Given the description of an element on the screen output the (x, y) to click on. 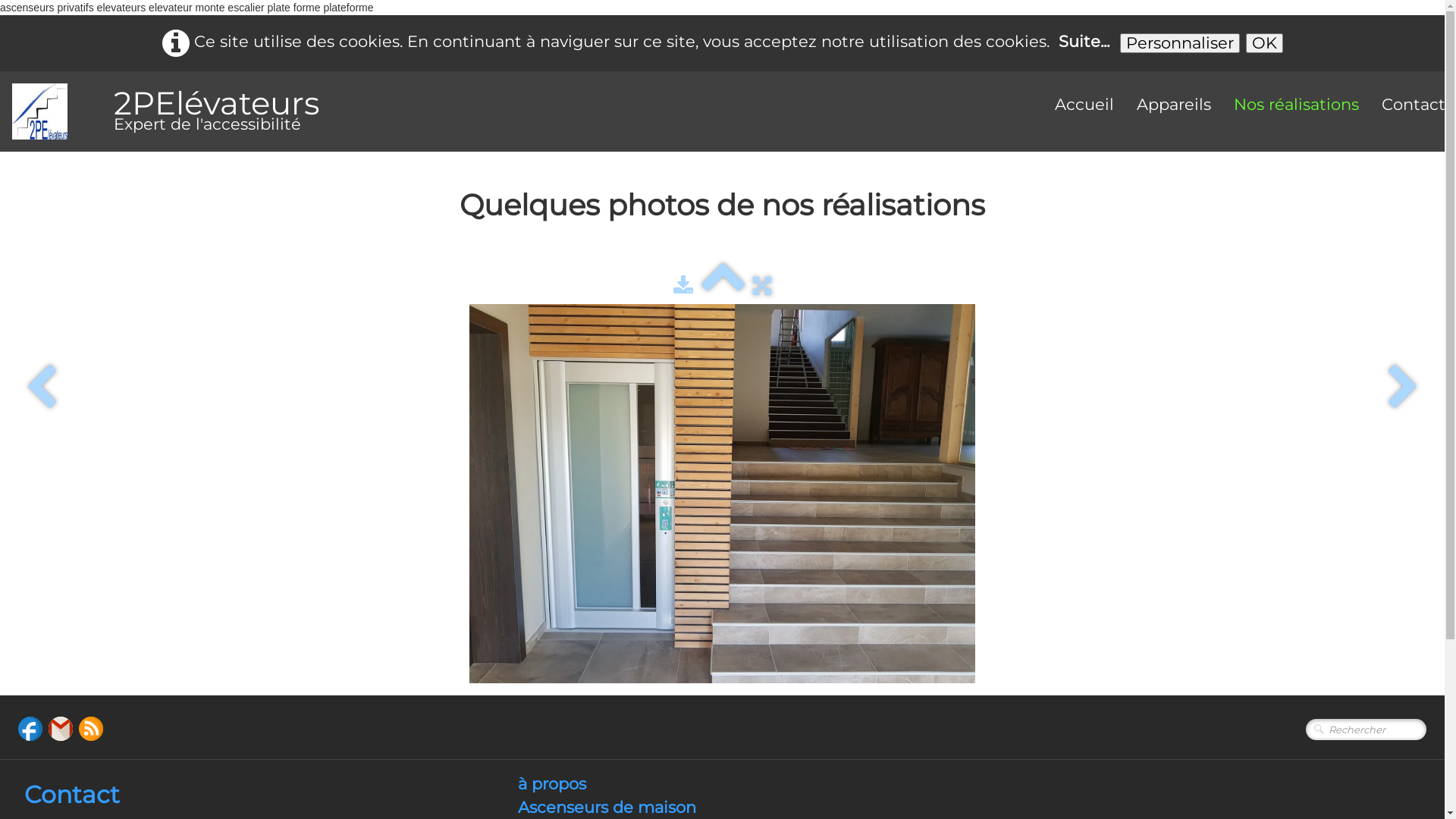
Personnaliser Element type: text (1179, 43)
OK Element type: text (1263, 43)
Index Element type: hover (722, 285)
Accueil Element type: text (1084, 104)
Suite... Element type: text (1083, 40)
Ascenseurs de maison Element type: text (606, 806)
Contact Element type: text (71, 794)
Suivant Element type: hover (1403, 387)
Appareils Element type: text (1173, 104)
